Given the description of an element on the screen output the (x, y) to click on. 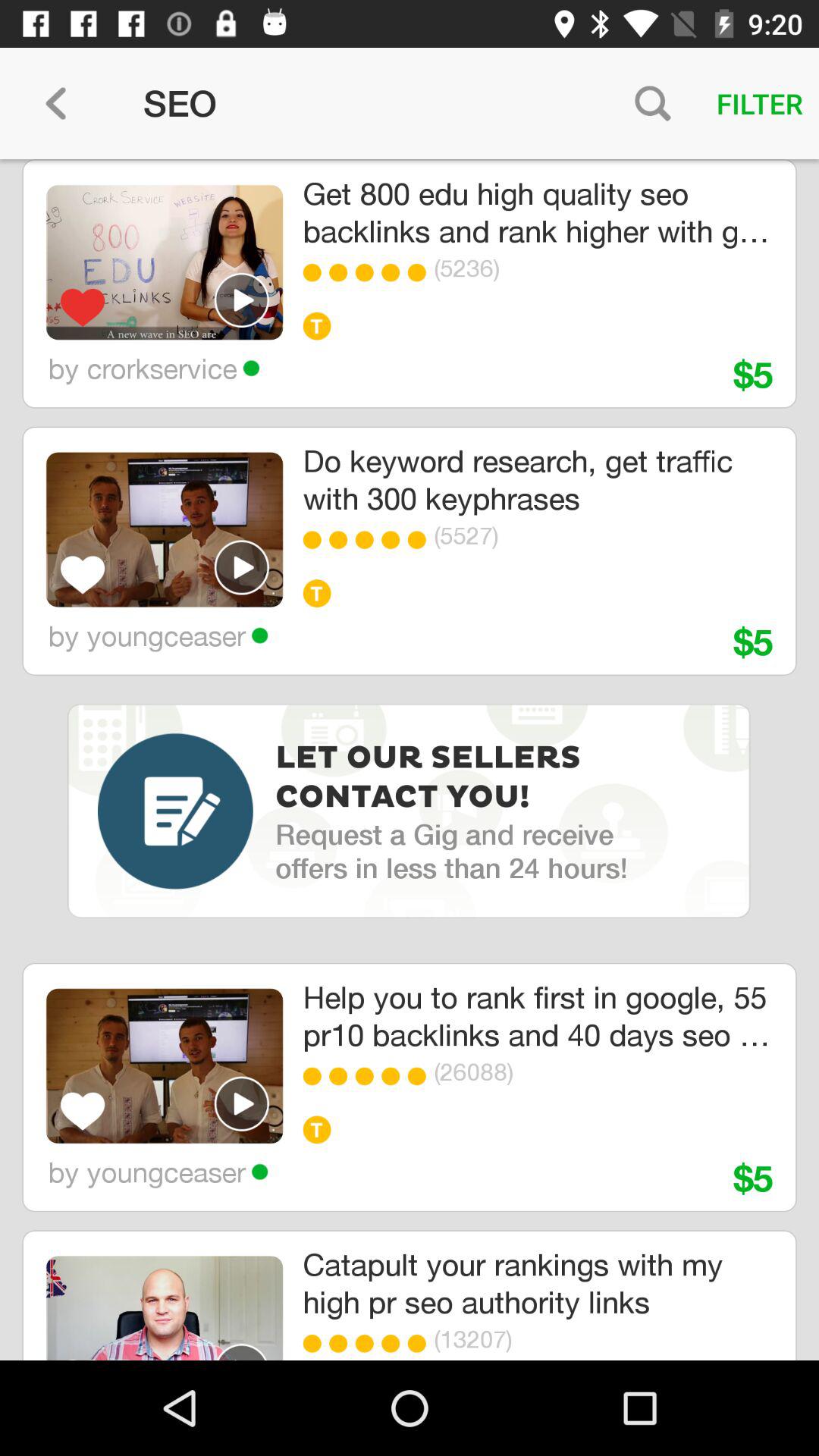
click the icon to the left of (5527) (420, 539)
